Given the description of an element on the screen output the (x, y) to click on. 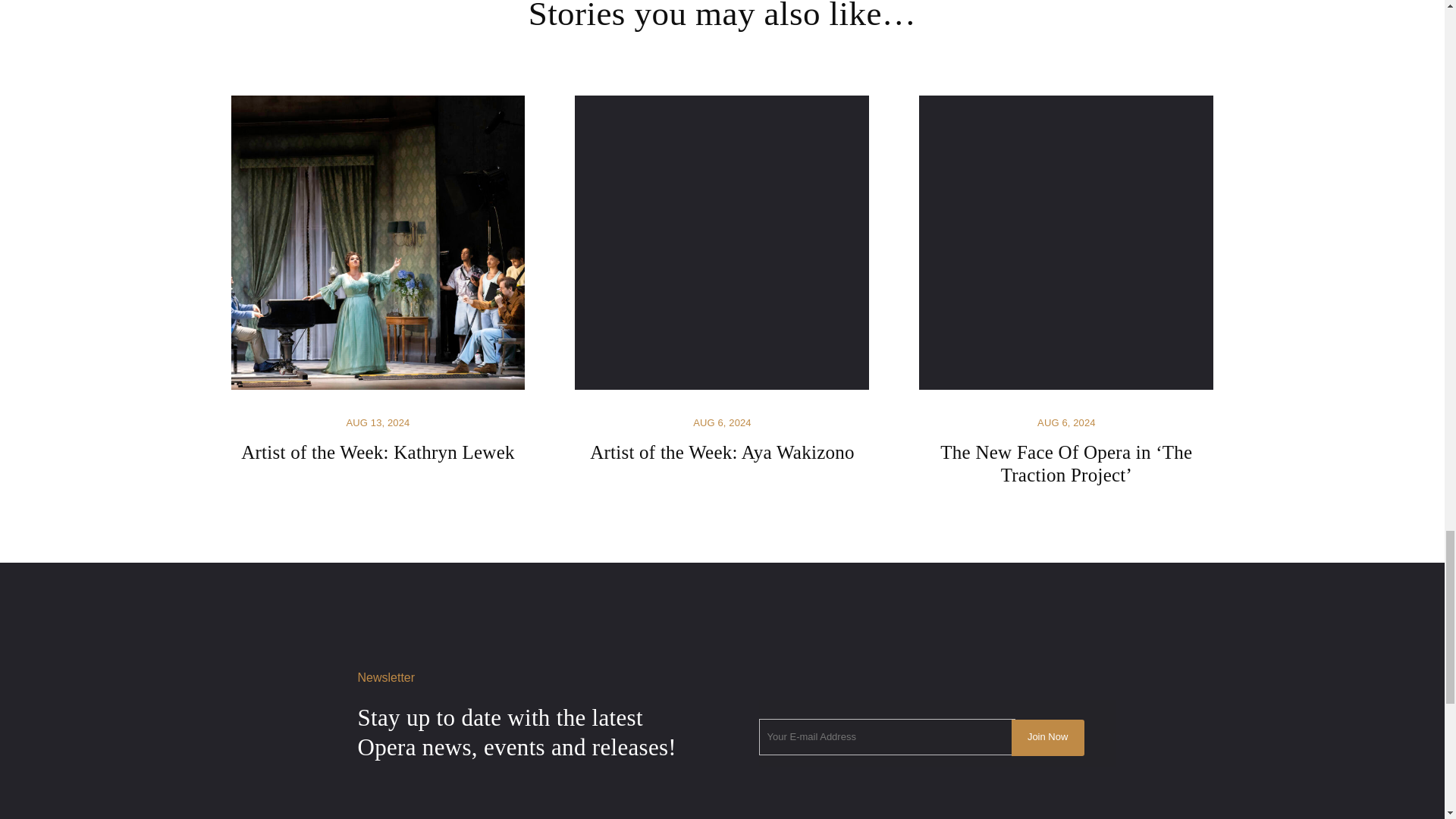
Join Now (1047, 737)
